Given the description of an element on the screen output the (x, y) to click on. 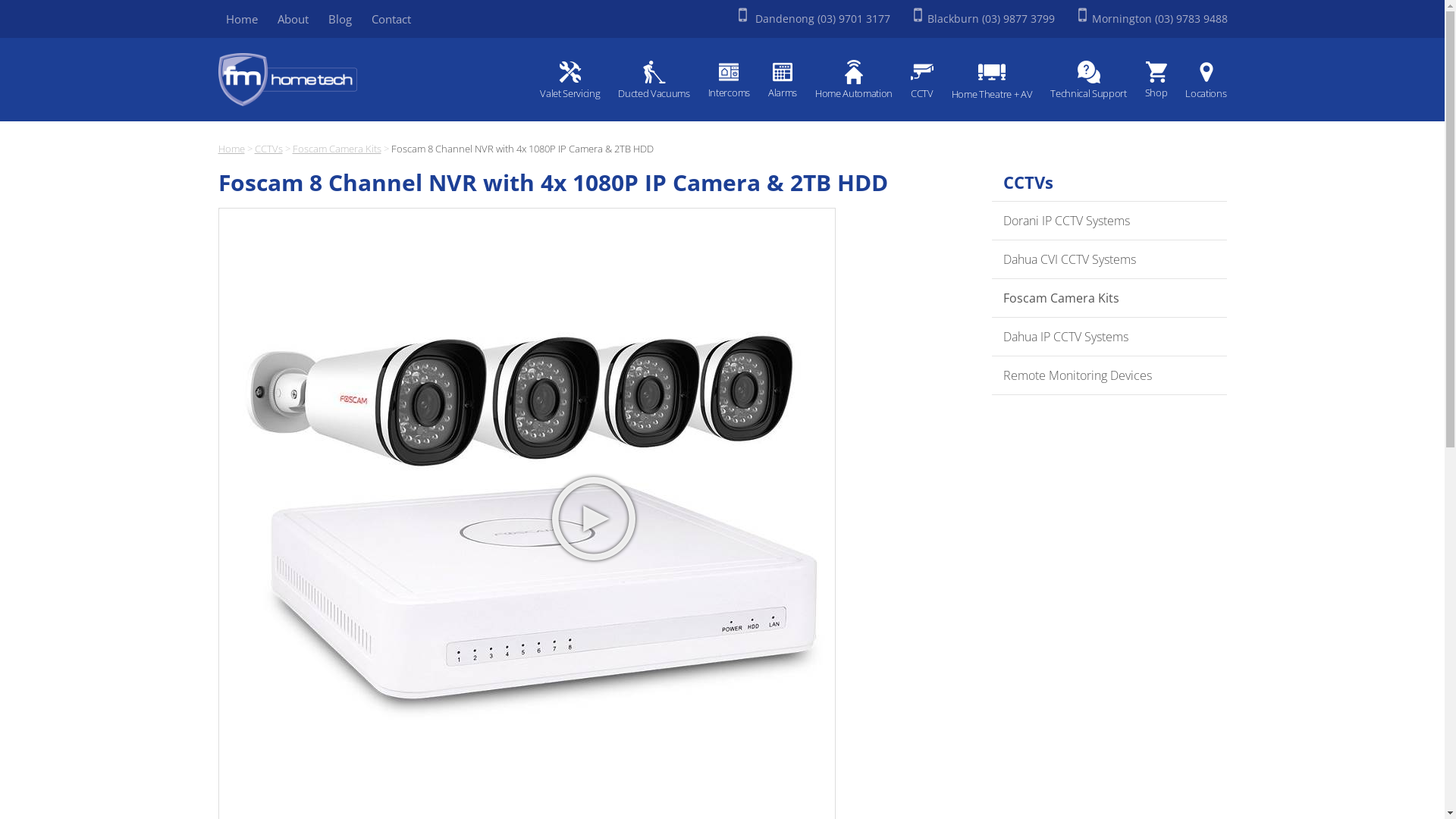
About Element type: text (292, 18)
Foscam Camera Kits Element type: text (336, 148)
Home Element type: text (231, 148)
Ducted Vacuums Element type: text (653, 80)
Intercoms Element type: text (728, 80)
Dorani IP CCTV Systems Element type: text (1108, 220)
Home Element type: text (241, 18)
Contact Element type: text (391, 18)
(03) 9877 3799 Element type: text (1018, 18)
Valet Servicing Element type: text (569, 80)
Dahua IP CCTV Systems Element type: text (1108, 336)
Foscam Camera Kits Element type: text (1108, 298)
(03) 9701 3177 Element type: text (853, 18)
(03) 9783 9488 Element type: text (1190, 18)
Alarms Element type: text (782, 80)
Technical Support Element type: text (1087, 80)
Blog Element type: text (340, 18)
Dandenong Element type: text (783, 18)
Remote Monitoring Devices Element type: text (1108, 375)
Locations Element type: text (1201, 80)
Home Theatre + AV Element type: text (991, 81)
Shop Element type: text (1156, 80)
Mornington Element type: text (1121, 18)
CCTV Element type: text (922, 80)
Blackburn Element type: text (954, 18)
Home Automation Element type: text (853, 80)
Dahua CVI CCTV Systems Element type: text (1108, 259)
CCTVs Element type: text (268, 148)
